Given the description of an element on the screen output the (x, y) to click on. 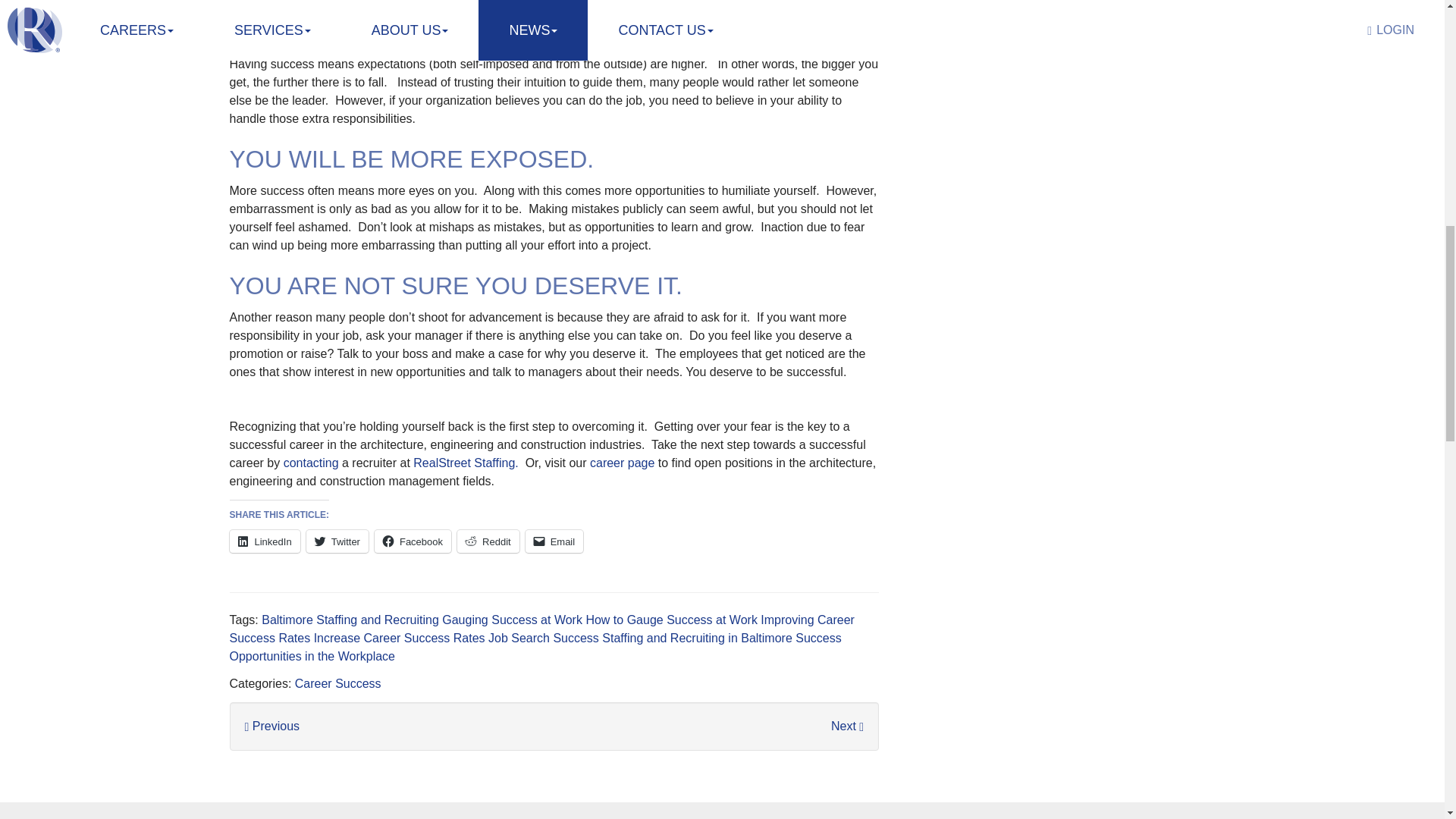
Click to share on Facebook (412, 540)
Click to share on LinkedIn (263, 540)
Click to share on Reddit (488, 540)
Click to email a link to a friend (554, 540)
Click to share on Twitter (336, 540)
